Given the description of an element on the screen output the (x, y) to click on. 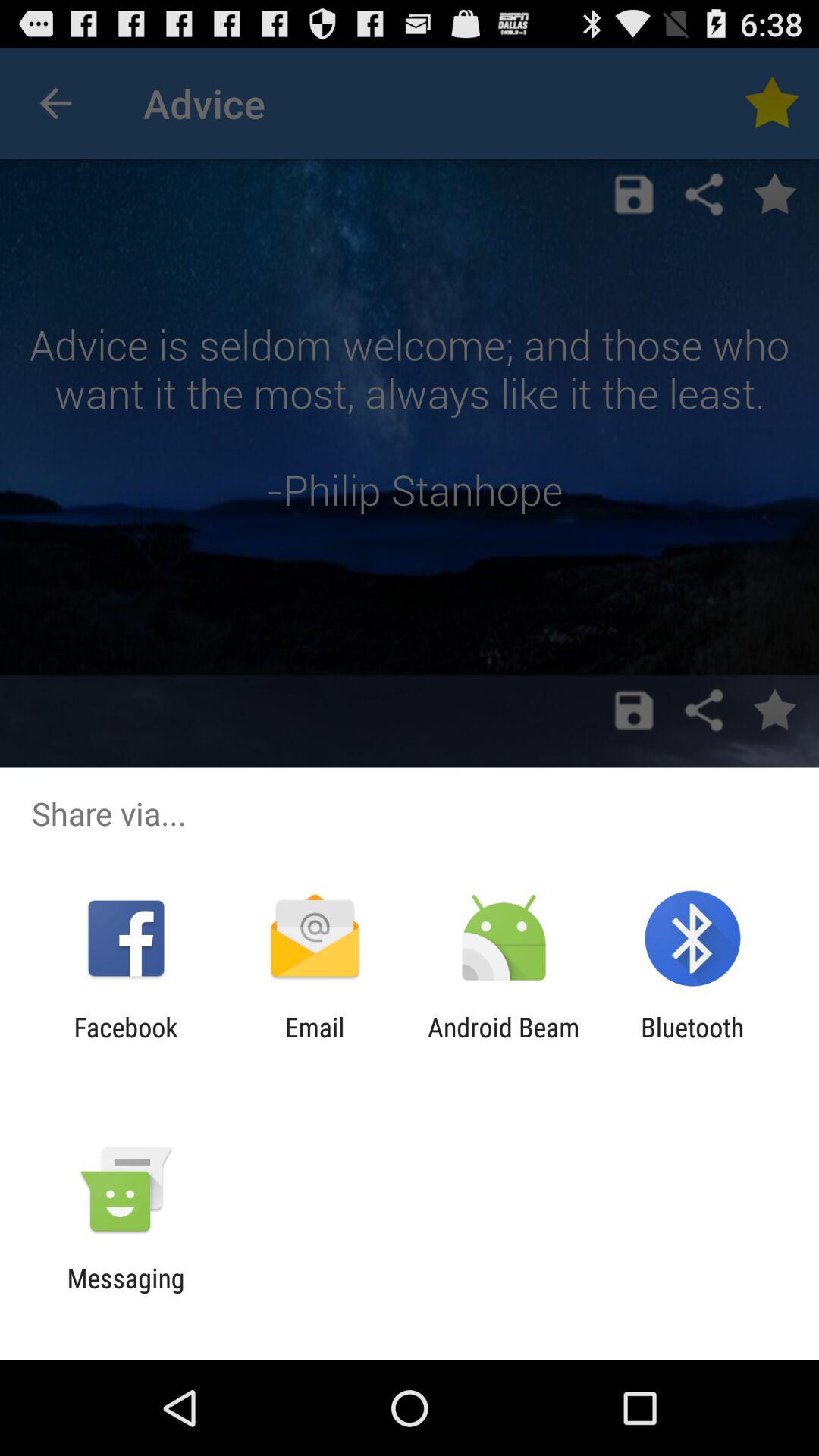
click the app next to the email icon (503, 1042)
